Given the description of an element on the screen output the (x, y) to click on. 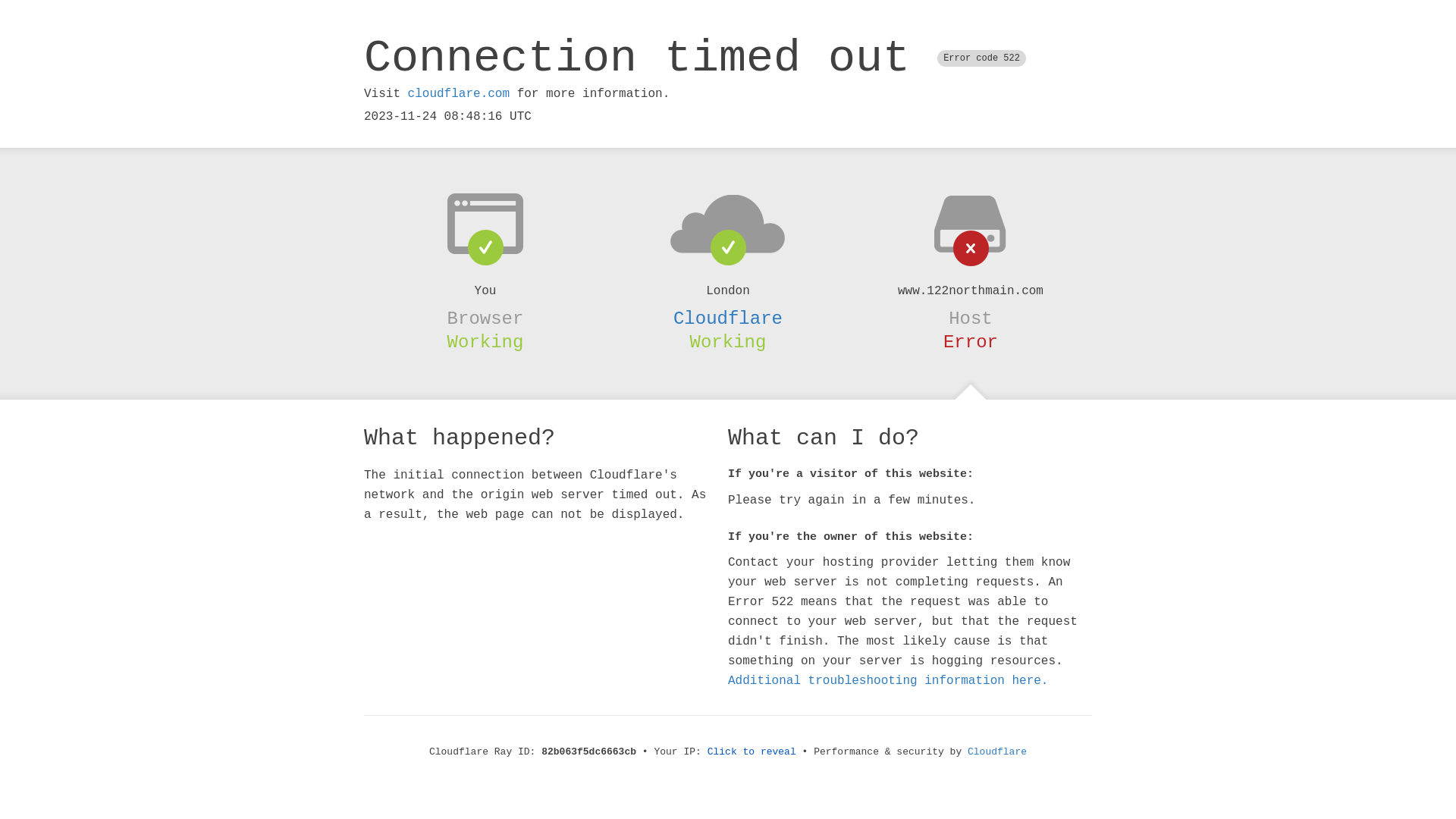
Cloudflare Element type: text (996, 751)
Click to reveal Element type: text (751, 751)
Additional troubleshooting information here. Element type: text (888, 680)
cloudflare.com Element type: text (458, 93)
Cloudflare Element type: text (727, 318)
